Given the description of an element on the screen output the (x, y) to click on. 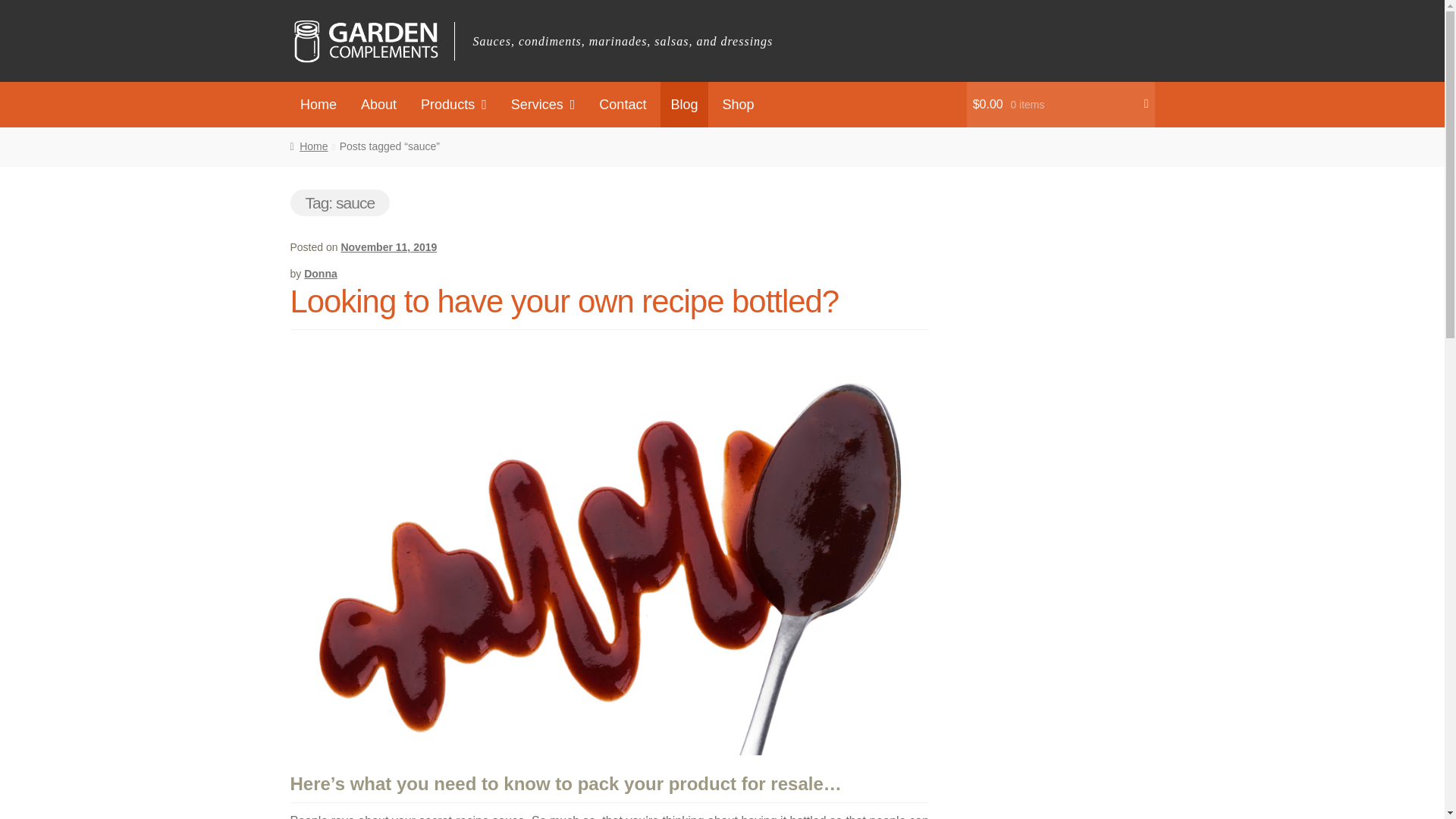
November 11, 2019 (388, 246)
Donna (320, 273)
About (378, 104)
Products (453, 104)
Blog (684, 104)
Home (308, 146)
View your shopping cart (1060, 104)
Looking to have your own recipe bottled? (563, 301)
Contact (622, 104)
Services (542, 104)
Home (317, 104)
Shop (737, 104)
